Given the description of an element on the screen output the (x, y) to click on. 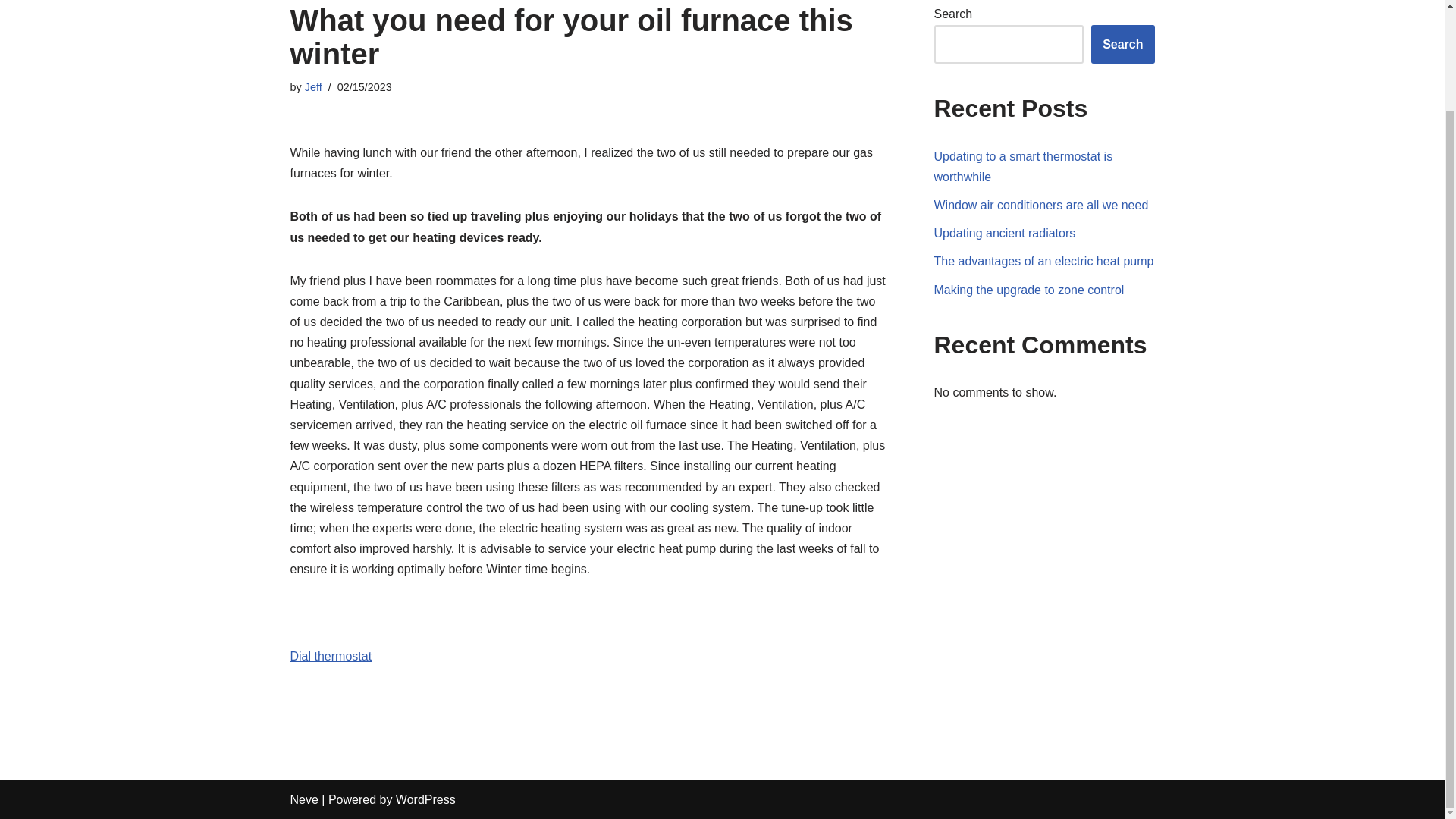
Window air conditioners are all we need (1041, 205)
Jeff (312, 87)
Updating to a smart thermostat is worthwhile (1023, 166)
Neve (303, 799)
Making the upgrade to zone control (1029, 289)
Posts by Jeff (312, 87)
WordPress (425, 799)
Dial thermostat (330, 656)
Updating ancient radiators (1004, 232)
Search (1122, 44)
